Given the description of an element on the screen output the (x, y) to click on. 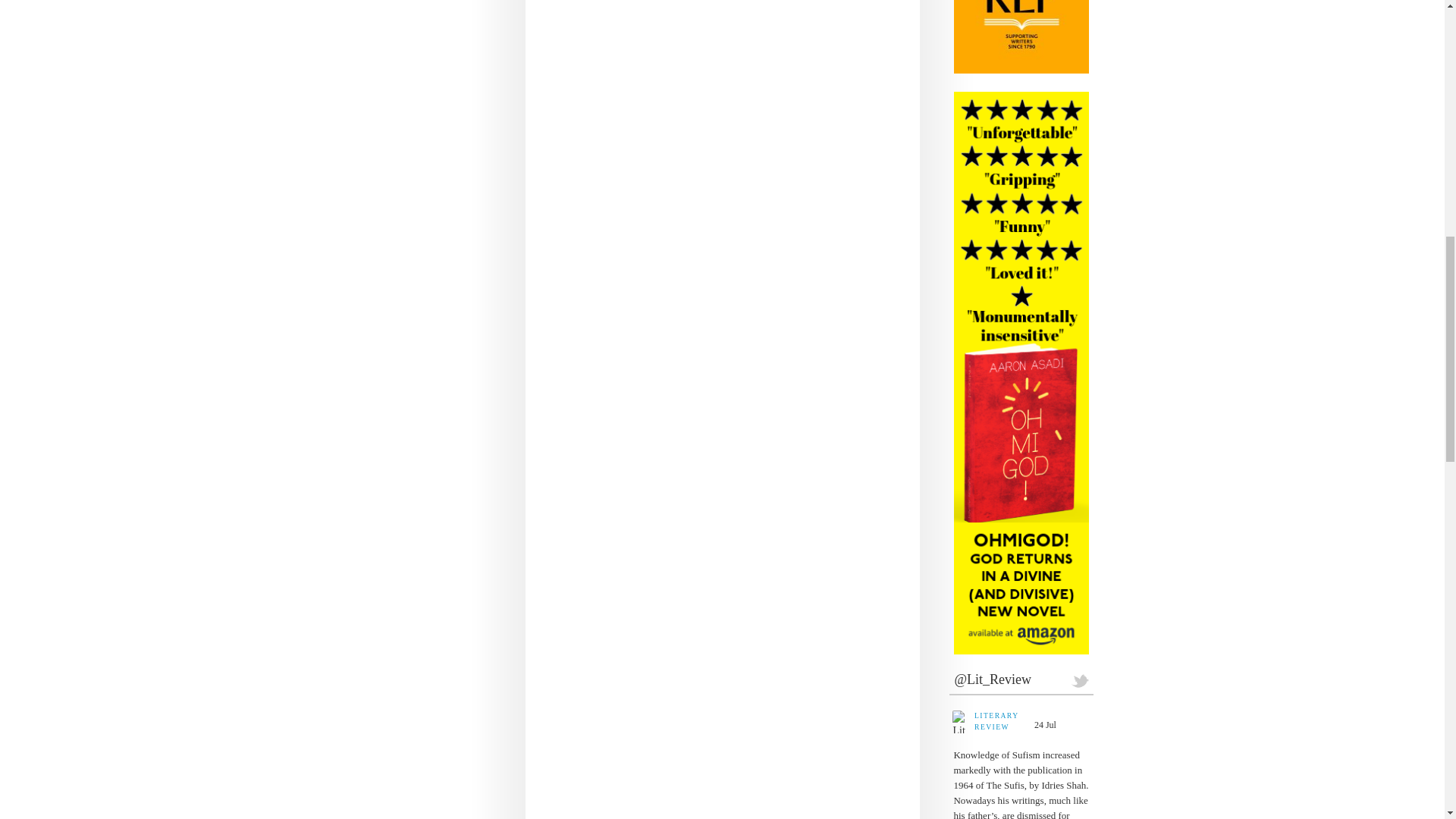
; (959, 721)
LITERARY REVIEW (999, 721)
24 Jul 1816095991621124197 (1045, 724)
